Given the description of an element on the screen output the (x, y) to click on. 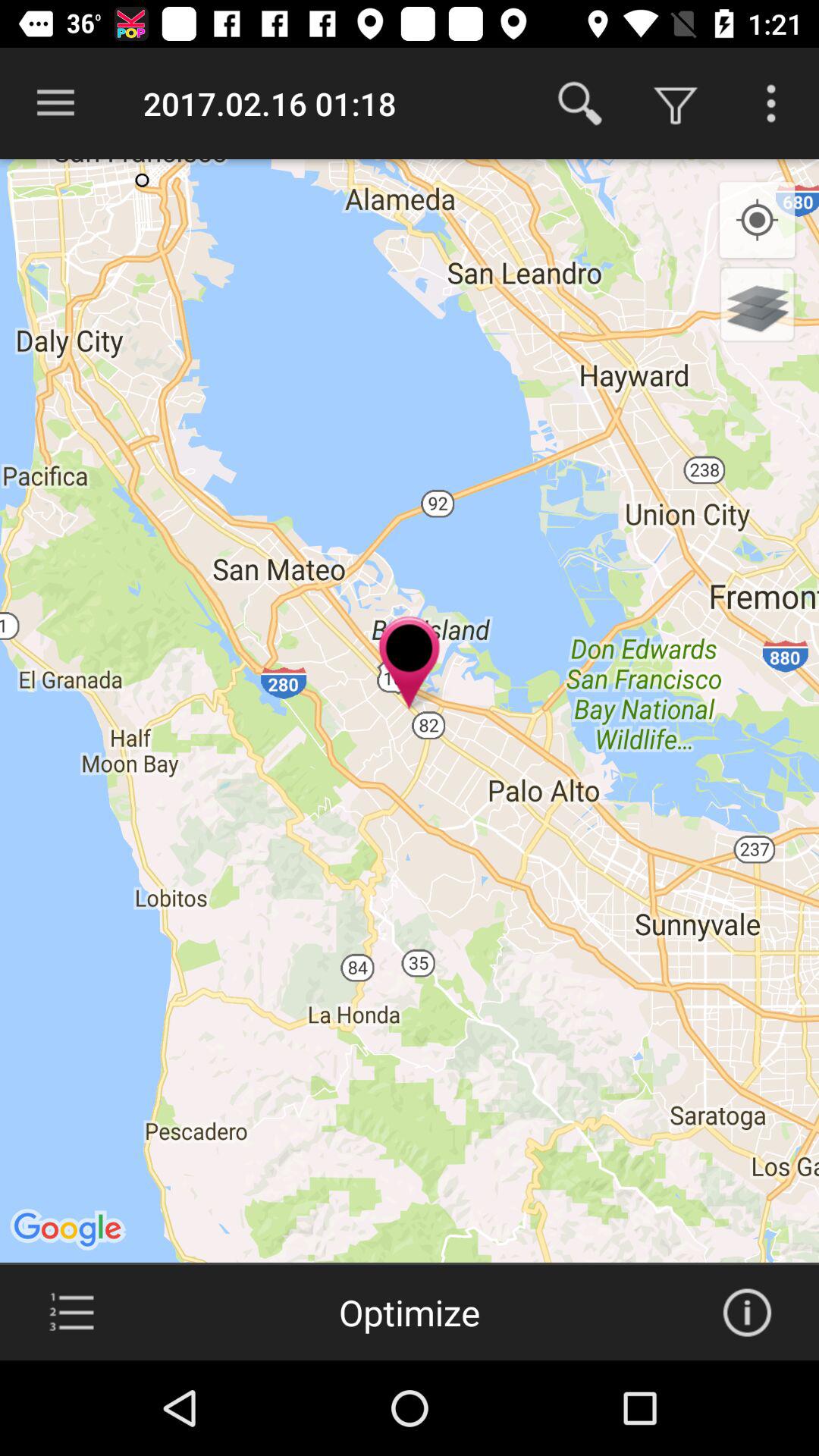
button gives more option (771, 103)
